Given the description of an element on the screen output the (x, y) to click on. 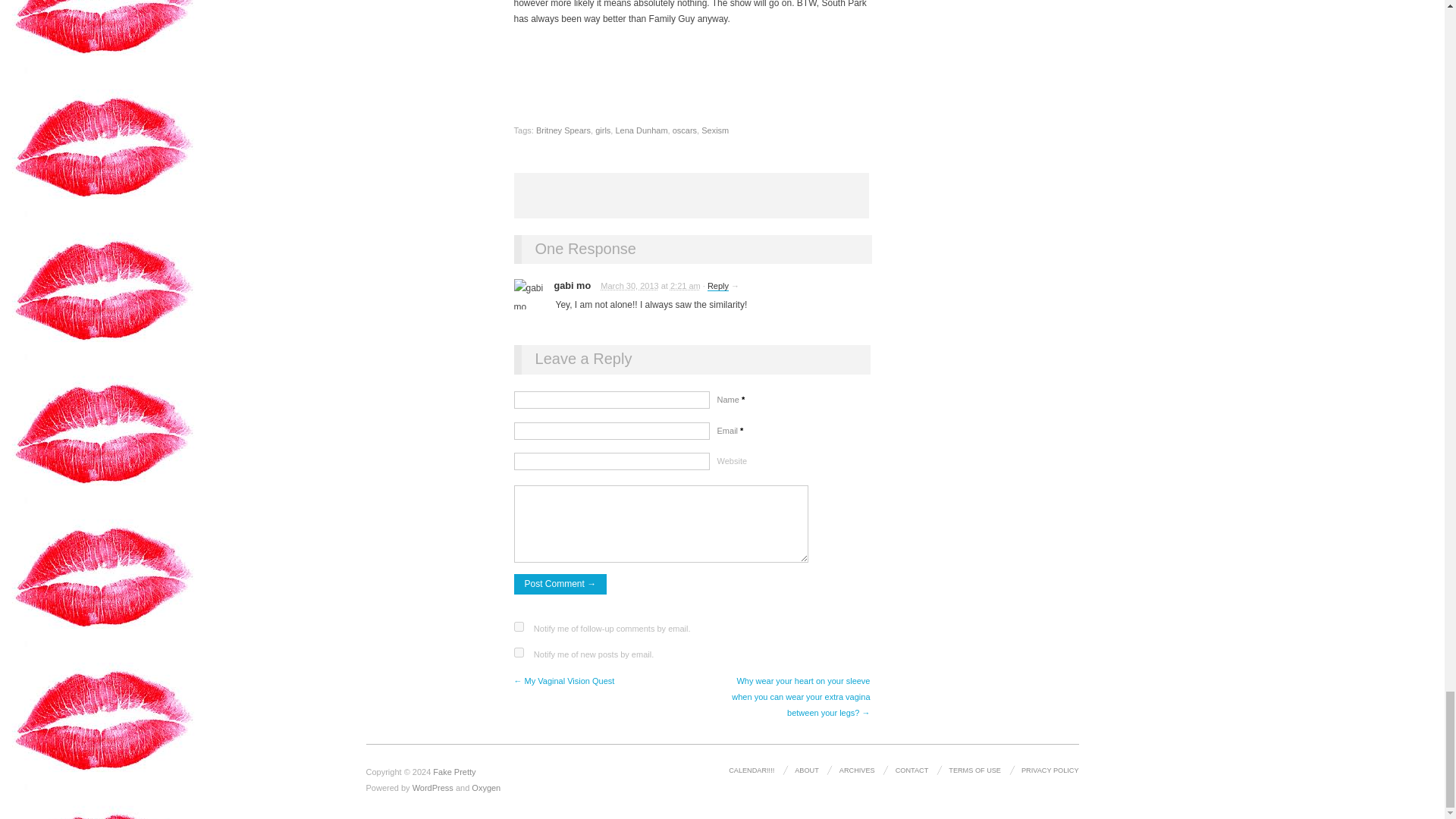
subscribe (518, 626)
Saturday, March 30th, 2013, 2:21 am (684, 285)
subscribe (518, 652)
Saturday, March 30th, 2013, 2:21 am (628, 285)
